Given the description of an element on the screen output the (x, y) to click on. 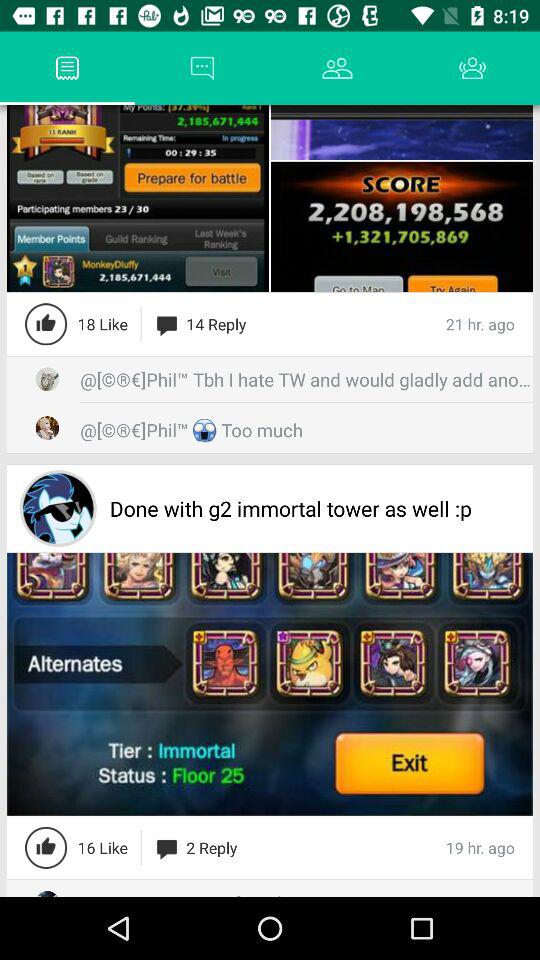
press app to the left of the forum icon (36, 68)
